Given the description of an element on the screen output the (x, y) to click on. 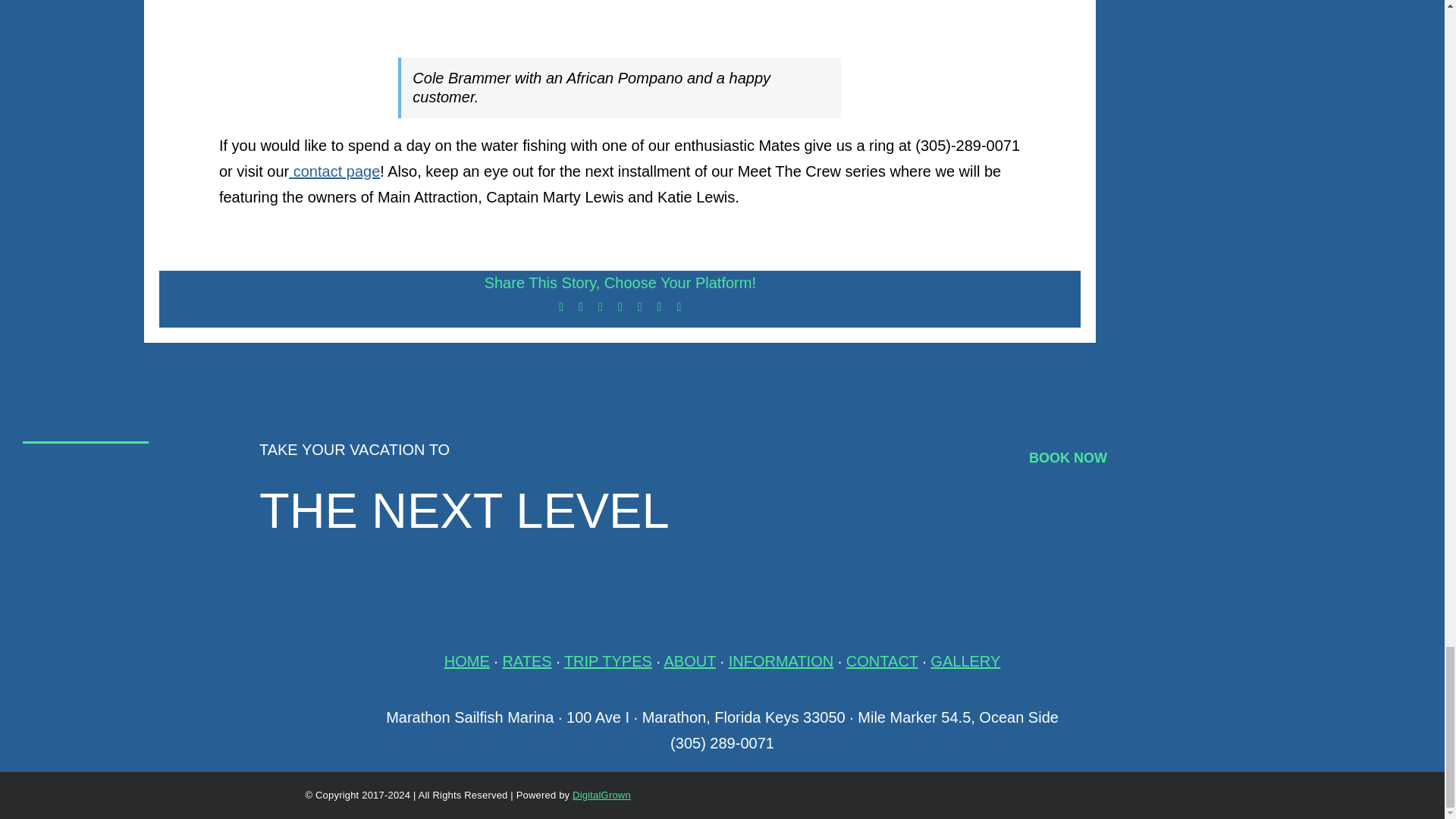
Pinterest (659, 306)
Reddit (600, 306)
WhatsApp (639, 306)
X (580, 306)
Facebook (560, 306)
Email (678, 306)
LinkedIn (620, 306)
